Given the description of an element on the screen output the (x, y) to click on. 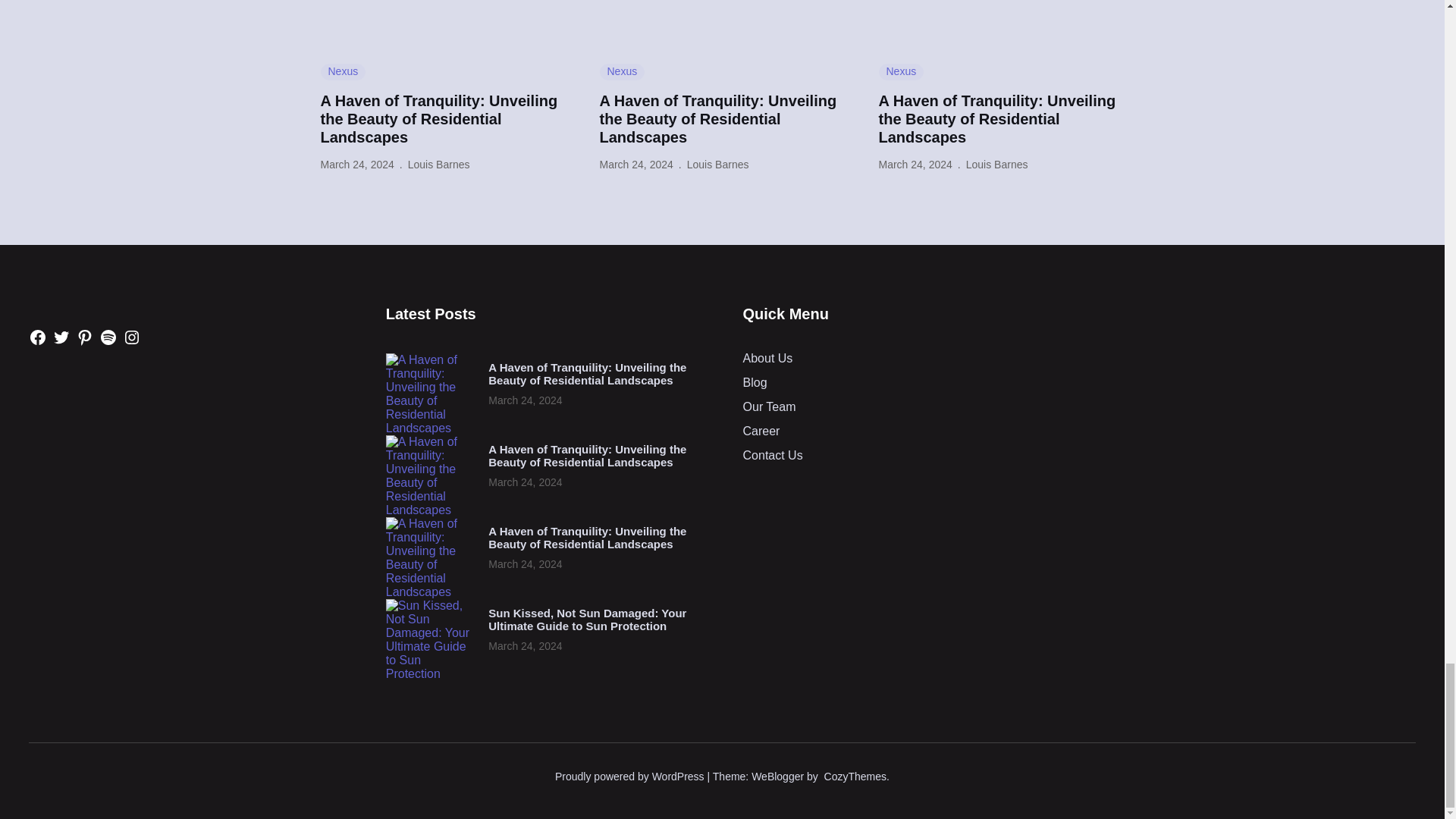
Nexus (342, 71)
Nexus (900, 71)
Pinterest (84, 337)
Nexus (621, 71)
Twitter (60, 337)
Instagram (131, 337)
Spotify (108, 337)
Facebook (37, 337)
